Given the description of an element on the screen output the (x, y) to click on. 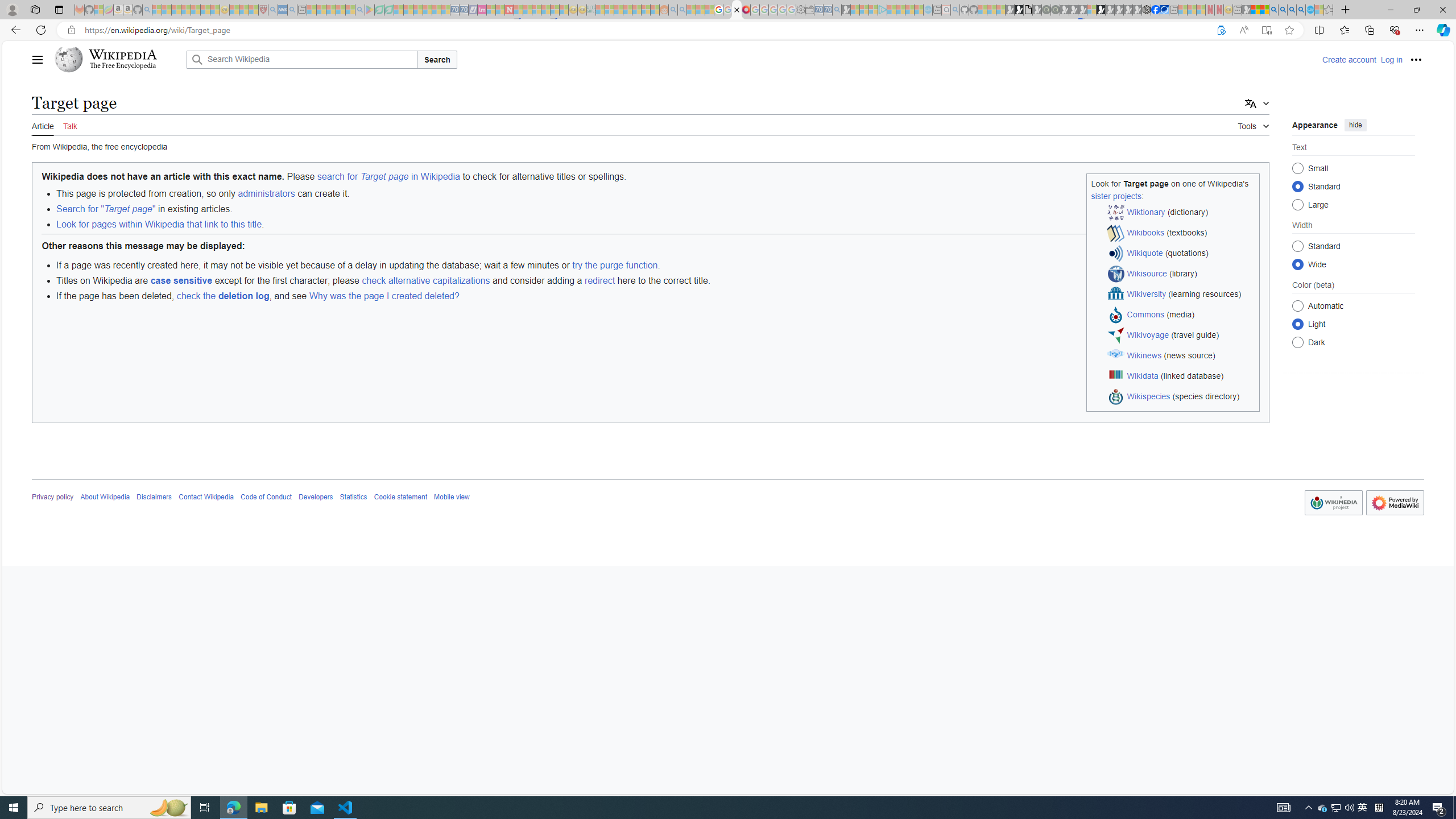
Article (42, 124)
Wikimedia Foundation (1333, 502)
Wikinews (news source) (1181, 355)
Look for pages within Wikipedia that link to this title. (657, 224)
hide (1355, 124)
github - Search - Sleeping (954, 9)
sister projects (1115, 195)
Cookie statement (400, 496)
Future Focus Report 2024 - Sleeping (1054, 9)
